Given the description of an element on the screen output the (x, y) to click on. 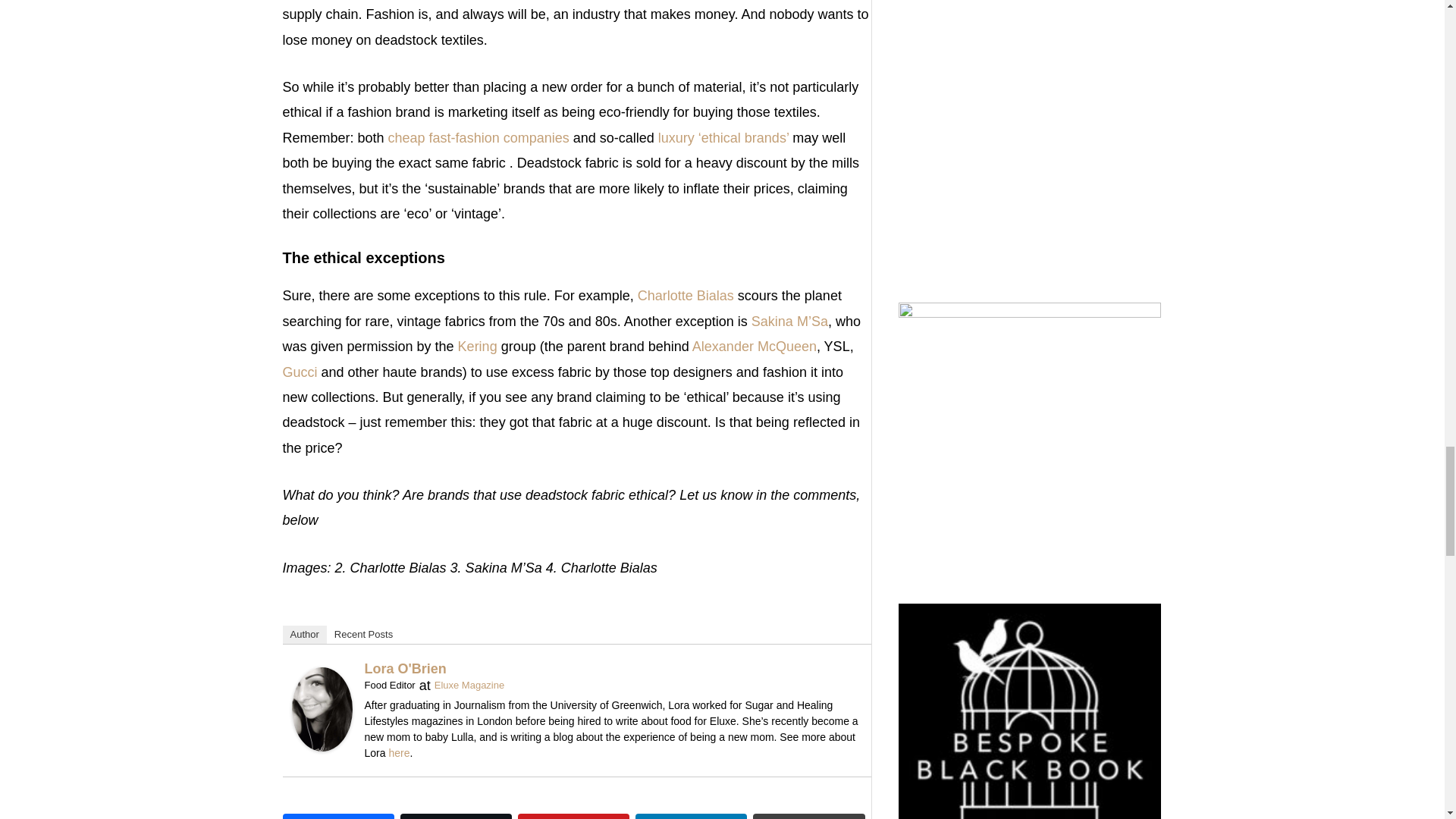
Share on Copy Link (808, 816)
Share on Facebook (337, 816)
Gucci (299, 372)
Share on Pinterest (573, 816)
Alexander McQueen (754, 346)
Share on Twitter (456, 816)
Share on LinkedIn (690, 816)
LSE: PP (477, 346)
